Given the description of an element on the screen output the (x, y) to click on. 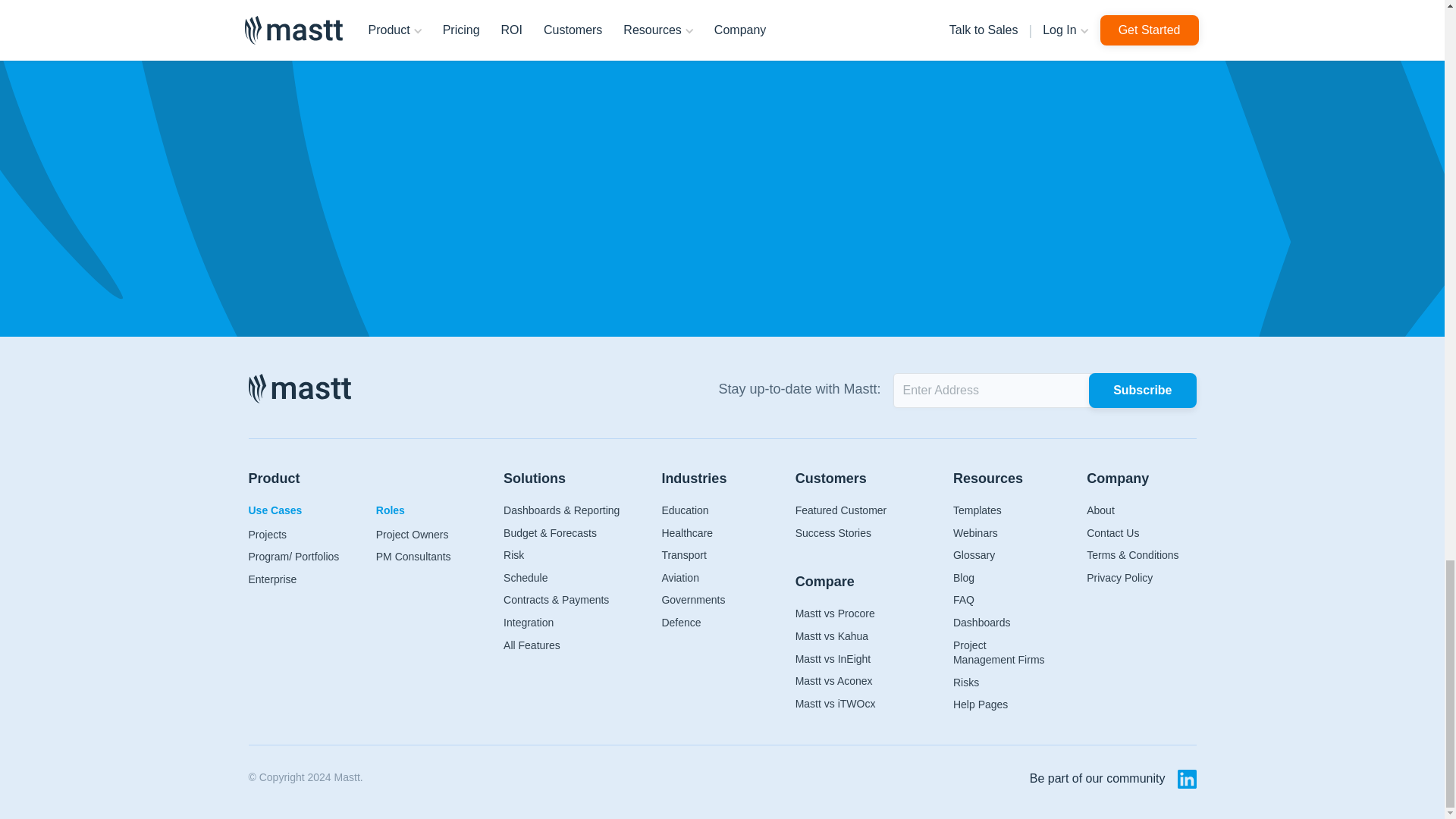
Subscribe (1142, 390)
